Given the description of an element on the screen output the (x, y) to click on. 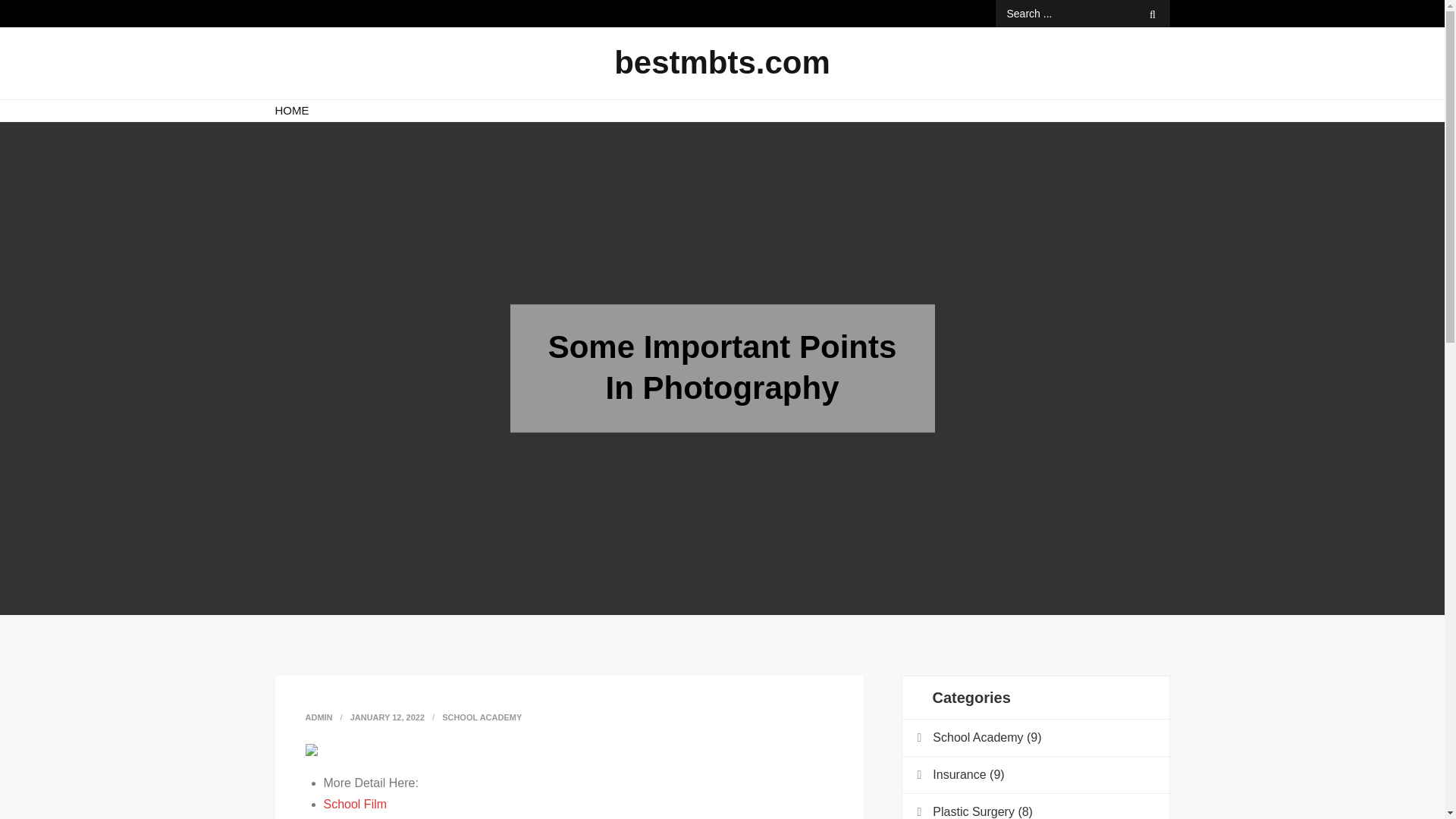
School Film (355, 803)
JANUARY 12, 2022 (387, 716)
Search for: (1081, 13)
bestmbts.com (721, 62)
Search (1152, 13)
HOME (291, 110)
ADMIN (317, 716)
SCHOOL ACADEMY (481, 717)
